Given the description of an element on the screen output the (x, y) to click on. 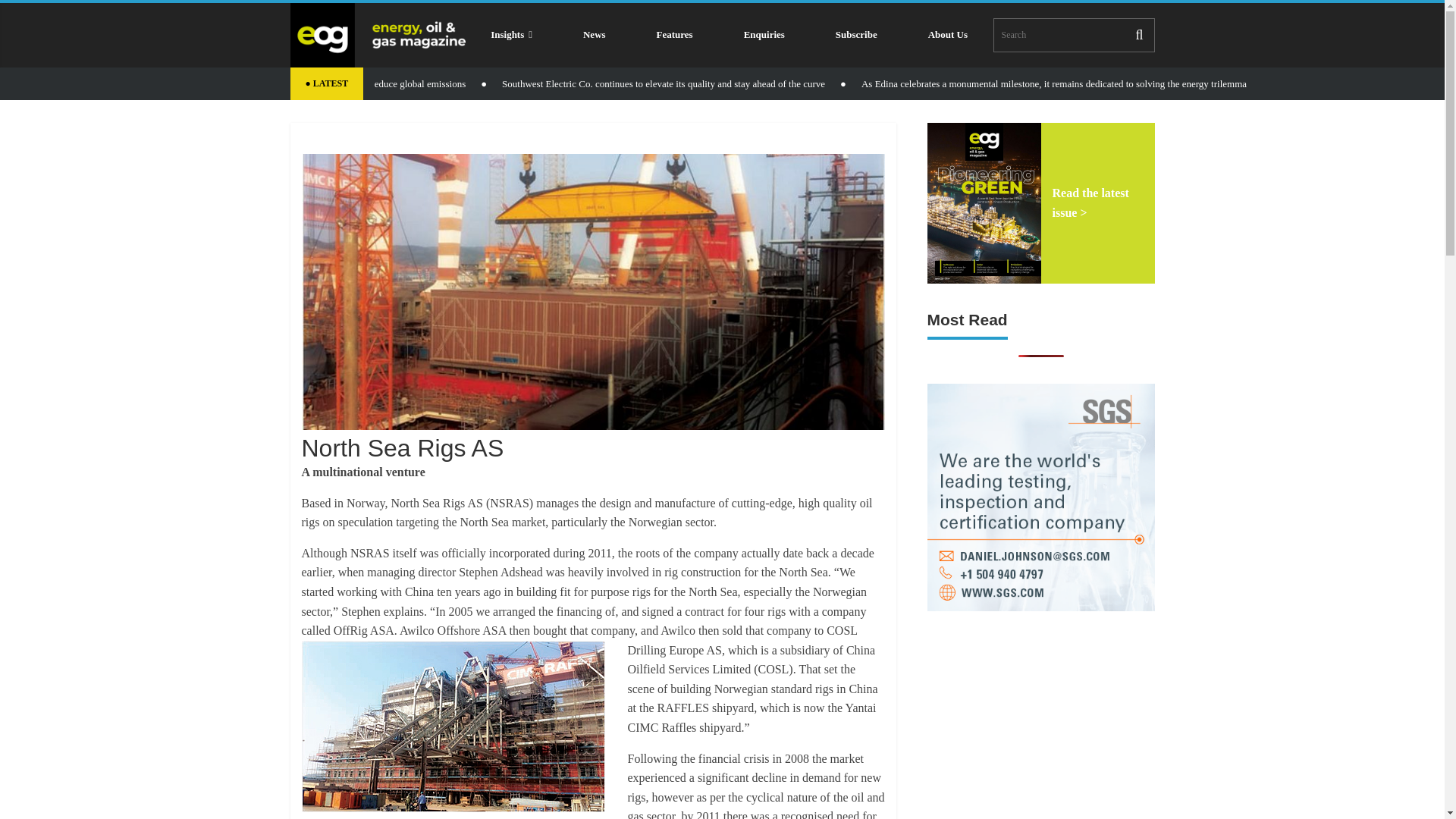
Enquiries (763, 35)
About Us (947, 35)
Subscribe (855, 35)
Features (673, 35)
News (593, 35)
Insights (511, 35)
